Given the description of an element on the screen output the (x, y) to click on. 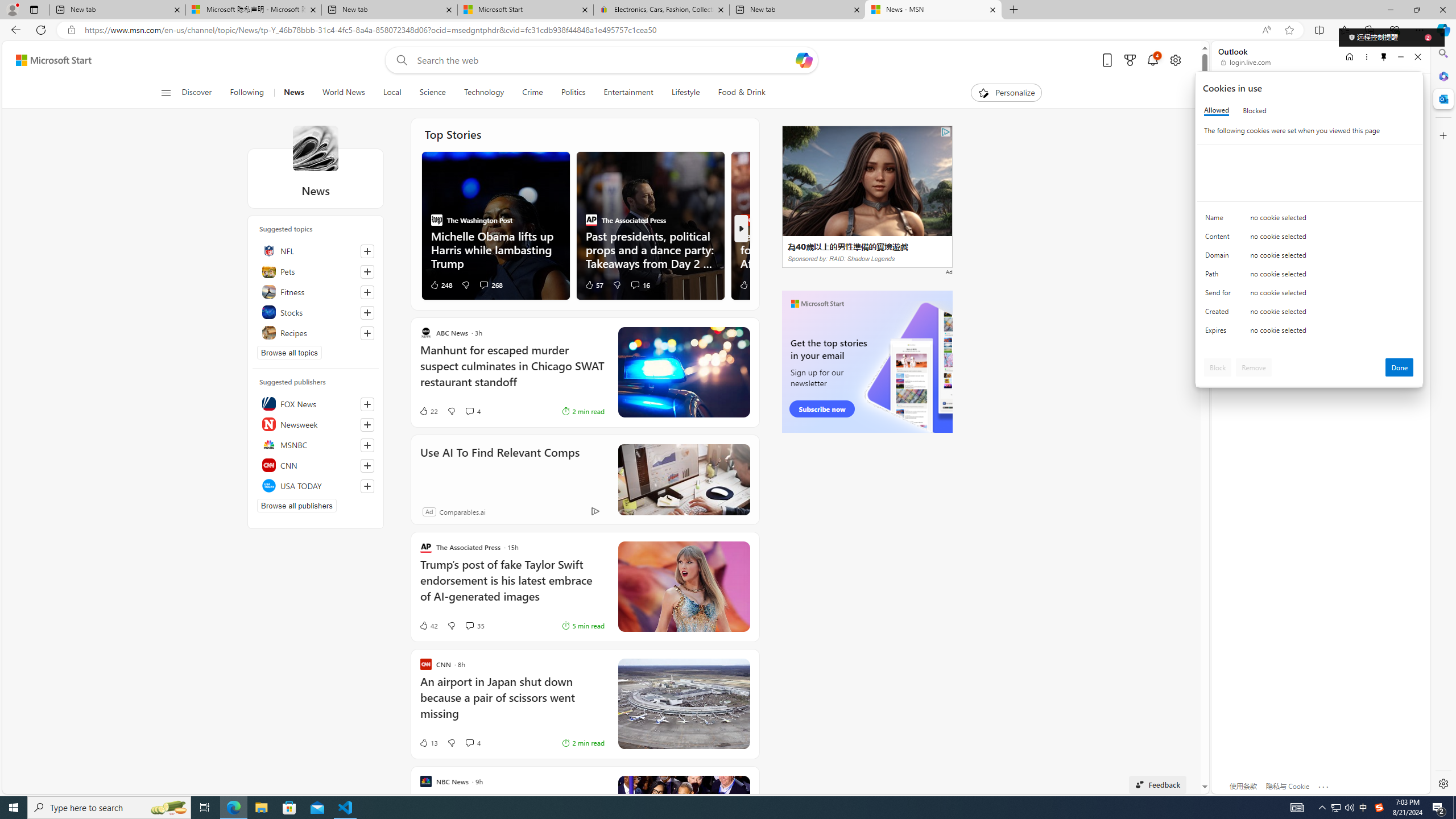
Technology (483, 92)
Local (391, 92)
View comments 35 Comment (474, 625)
Unpin side pane (1383, 56)
Skip to footer (46, 59)
Dislike (451, 742)
To get missing image descriptions, open the context menu. (983, 92)
Michelle Obama lifts up Harris while lambasting Trump (495, 249)
